Given the description of an element on the screen output the (x, y) to click on. 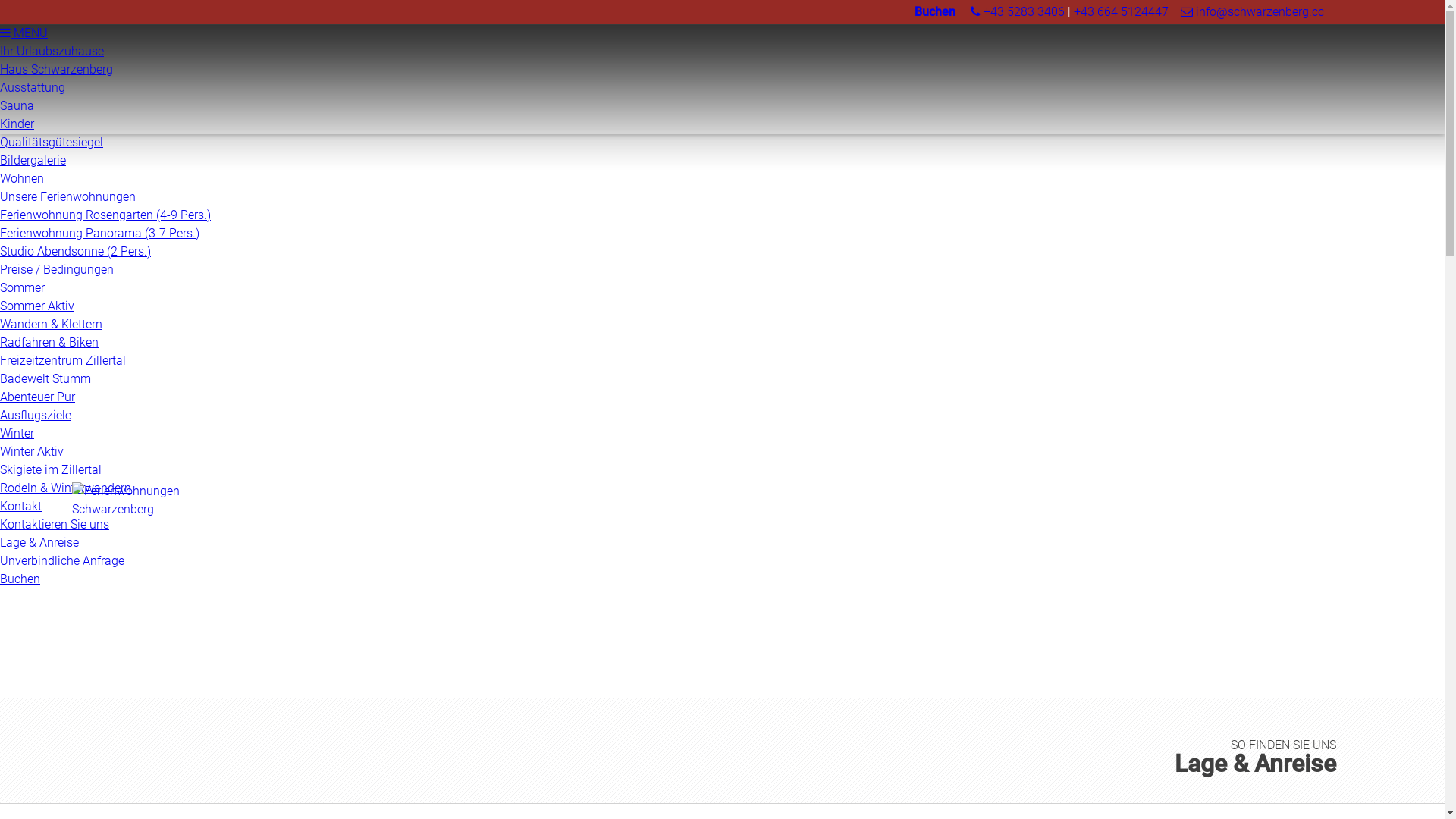
Ferienwohnung Rosengarten (4-9 Pers.) Element type: text (105, 214)
Preise / Bedingungen Element type: text (56, 269)
Kontaktieren Sie uns Element type: text (54, 524)
Wohnen Element type: text (21, 178)
Abenteuer Pur Element type: text (37, 396)
Sauna Element type: text (17, 105)
Bildergalerie Element type: text (32, 160)
Unverbindliche Anfrage Element type: text (62, 560)
Skigiete im Zillertal Element type: text (50, 469)
+43 5283 3406 Element type: text (1017, 11)
Sommer Aktiv Element type: text (37, 305)
info@schwarzenberg.cc Element type: text (1252, 11)
Winter Aktiv Element type: text (31, 451)
Buchen Element type: text (20, 578)
Kontakt Element type: text (20, 505)
Ausflugsziele Element type: text (35, 414)
MENU Element type: text (23, 32)
Unsere Ferienwohnungen Element type: text (67, 196)
Sommer Element type: text (22, 287)
Radfahren & Biken Element type: text (49, 342)
Rodeln & Winterwandern Element type: text (65, 487)
Ausstattung Element type: text (32, 87)
Ferienwohnungen Schwarzenberg Element type: hover (140, 509)
Ferienwohnungen Schwarzenberg Element type: hover (140, 534)
Lage & Anreise Element type: text (39, 542)
Freizeitzentrum Zillertal Element type: text (62, 360)
Badewelt Stumm Element type: text (45, 378)
Winter Element type: text (17, 433)
Studio Abendsonne (2 Pers.) Element type: text (75, 251)
+43 664 5124447 Element type: text (1120, 11)
Haus Schwarzenberg Element type: text (56, 69)
Buchen Element type: text (934, 11)
Wandern & Klettern Element type: text (51, 323)
Kinder Element type: text (17, 123)
Ihr Urlaubszuhause Element type: text (51, 50)
Ferienwohnung Panorama (3-7 Pers.) Element type: text (99, 232)
